Given the description of an element on the screen output the (x, y) to click on. 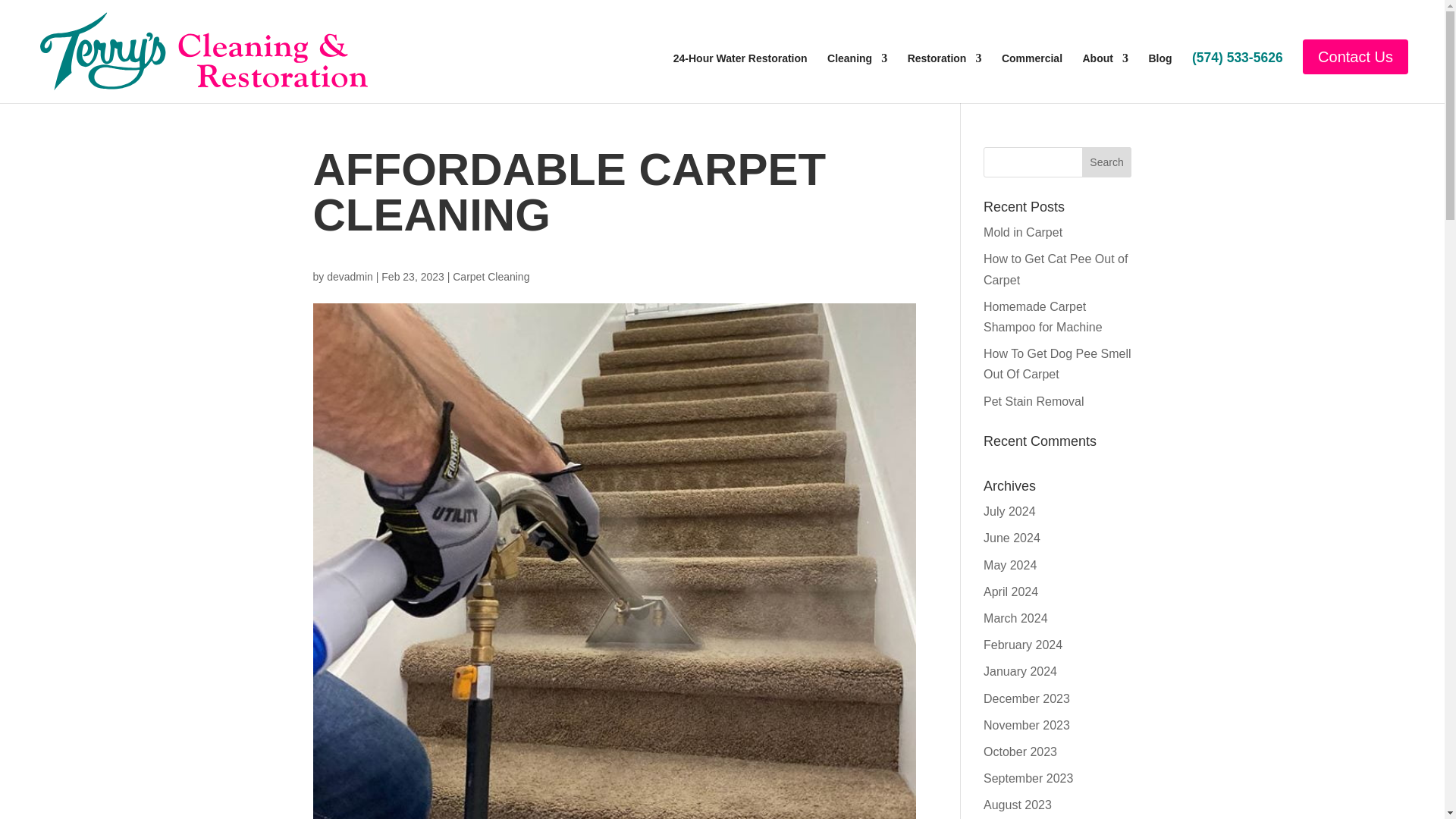
Posts by devadmin (349, 275)
Search (1106, 162)
